Given the description of an element on the screen output the (x, y) to click on. 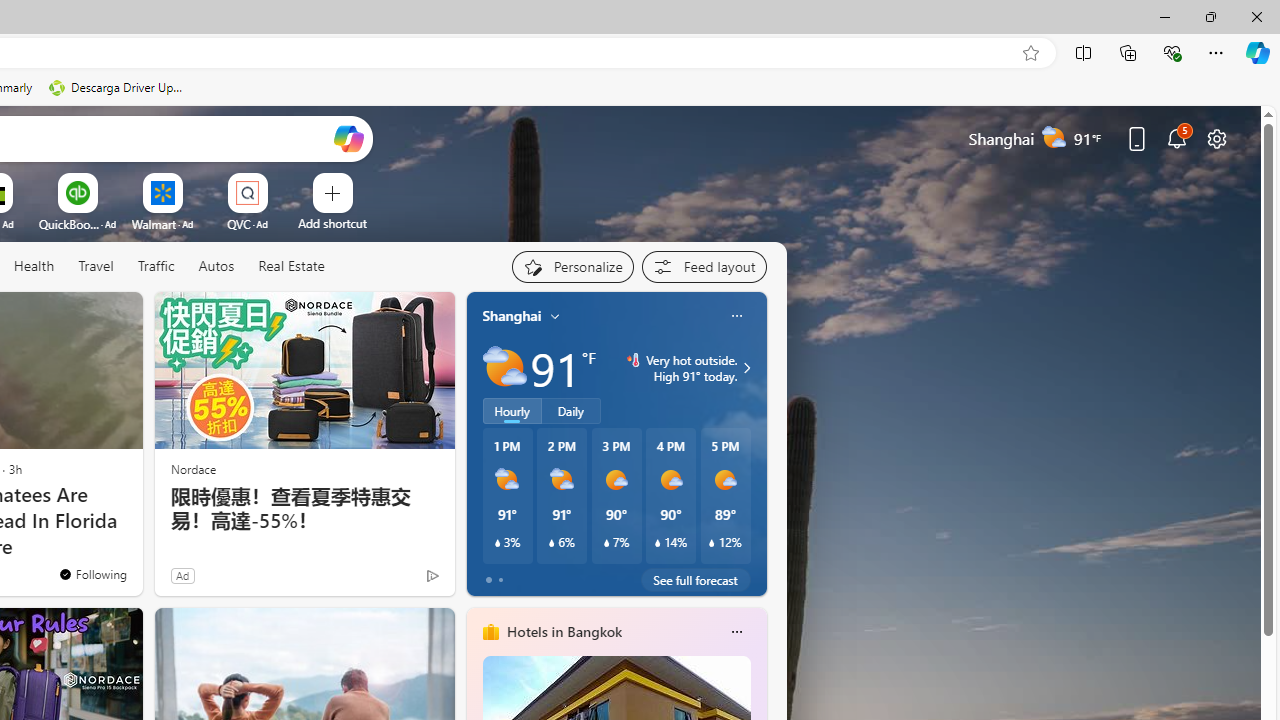
Hotels in Bangkok (563, 631)
Class: icon-img (736, 632)
You're following The Weather Channel (92, 573)
Descarga Driver Updater (118, 88)
Health (34, 265)
Feed settings (703, 266)
Travel (95, 265)
